Given the description of an element on the screen output the (x, y) to click on. 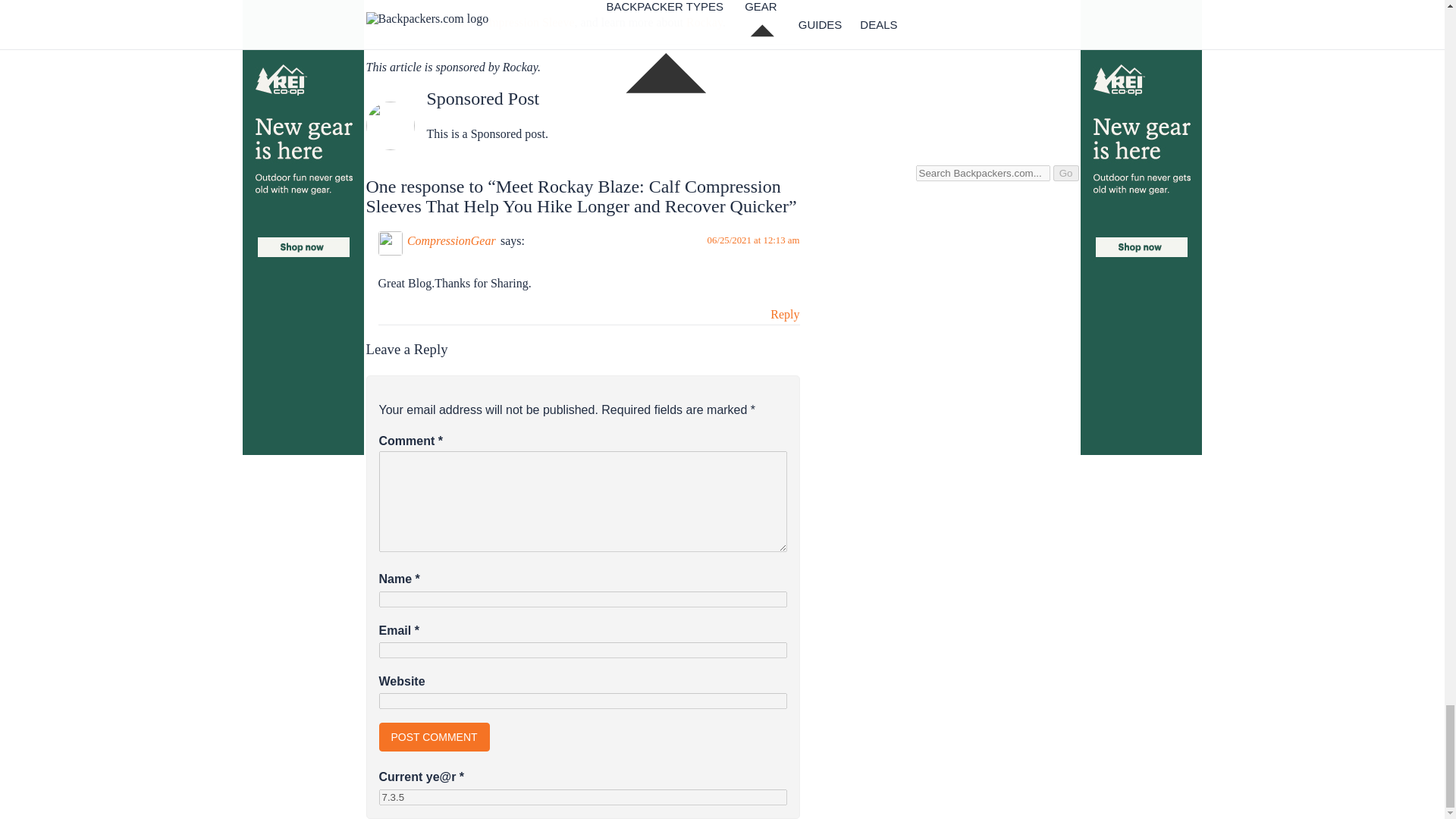
Post Comment (433, 736)
7.3.5 (582, 797)
